Given the description of an element on the screen output the (x, y) to click on. 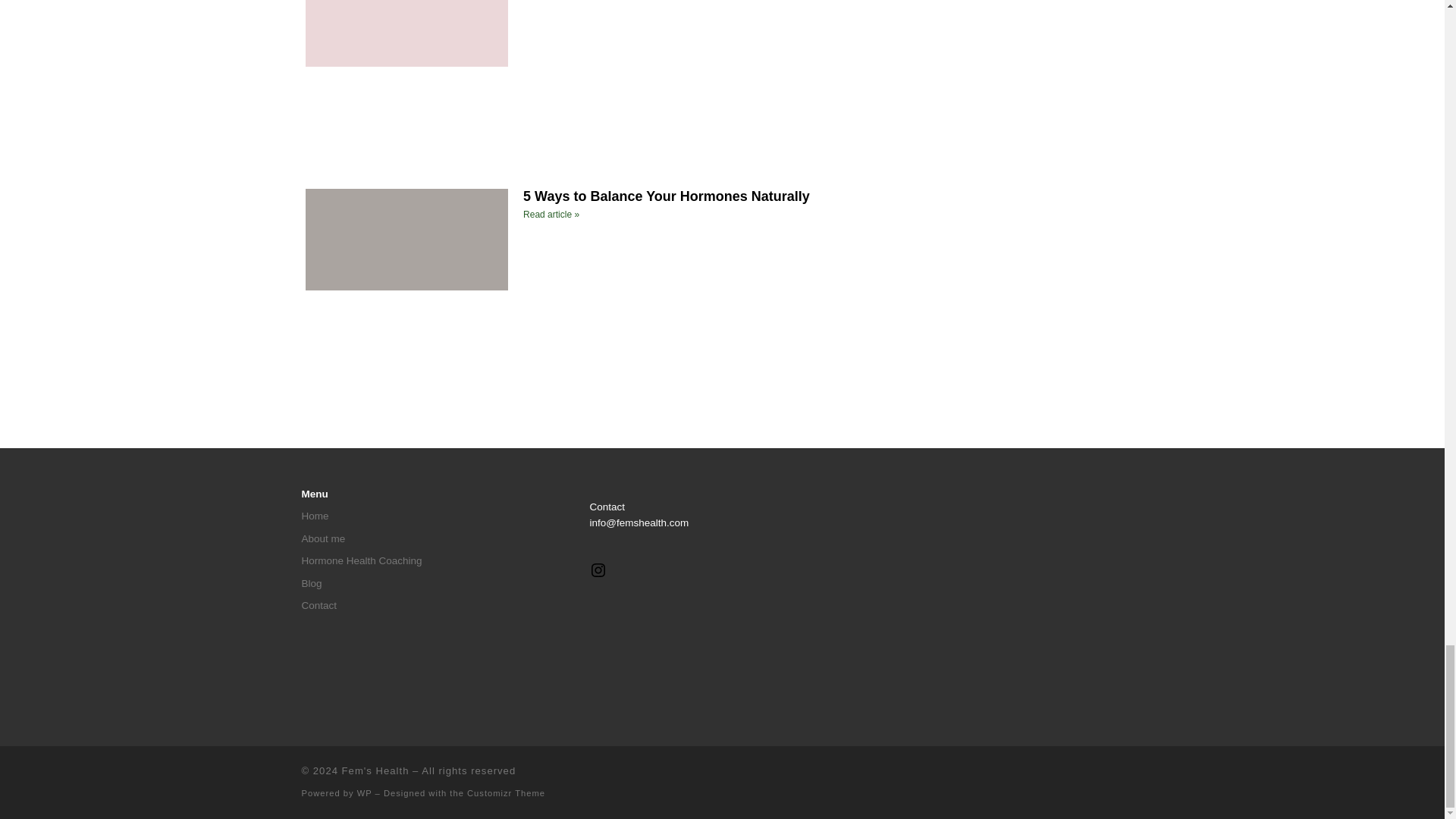
5 Ways to Balance Your Hormones Naturally (665, 196)
Home (315, 515)
Customizr Theme (505, 792)
IIN Health Coach Certificate (1010, 531)
Powered by WordPress (364, 792)
About me (323, 538)
Fem's Health (375, 770)
Hormone Health Coaching (361, 560)
